Given the description of an element on the screen output the (x, y) to click on. 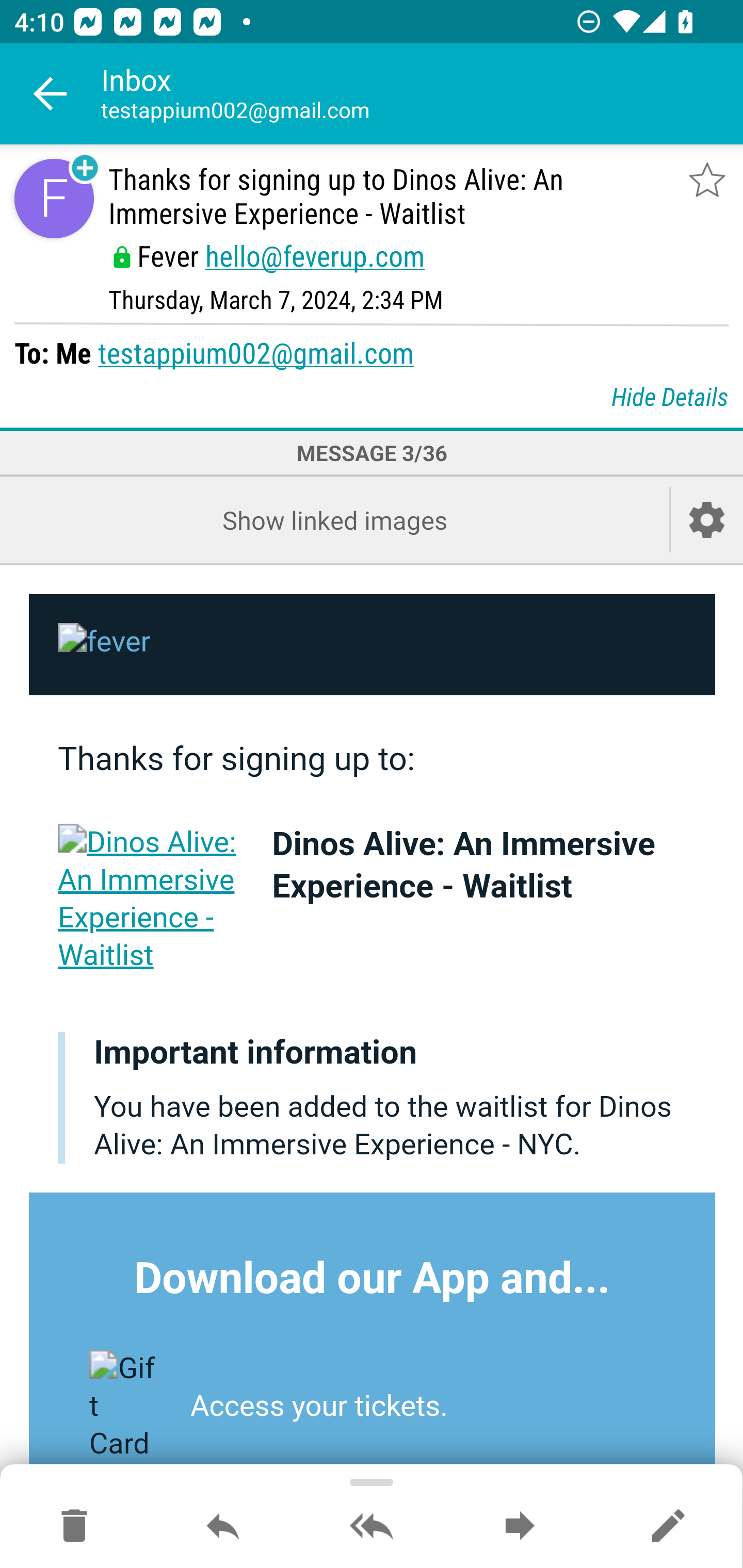
Navigate up (50, 93)
Inbox testappium002@gmail.com (422, 93)
Sender contact button (53, 198)
Show linked images (334, 519)
Account setup (706, 519)
fever (372, 643)
Dinos Alive: An Immersive Experience - Waitlist (150, 899)
Dinos Alive: An Immersive Experience - Waitlist (463, 865)
Move to Deleted (74, 1527)
Reply (222, 1527)
Reply all (371, 1527)
Forward (519, 1527)
Reply as new (667, 1527)
